Given the description of an element on the screen output the (x, y) to click on. 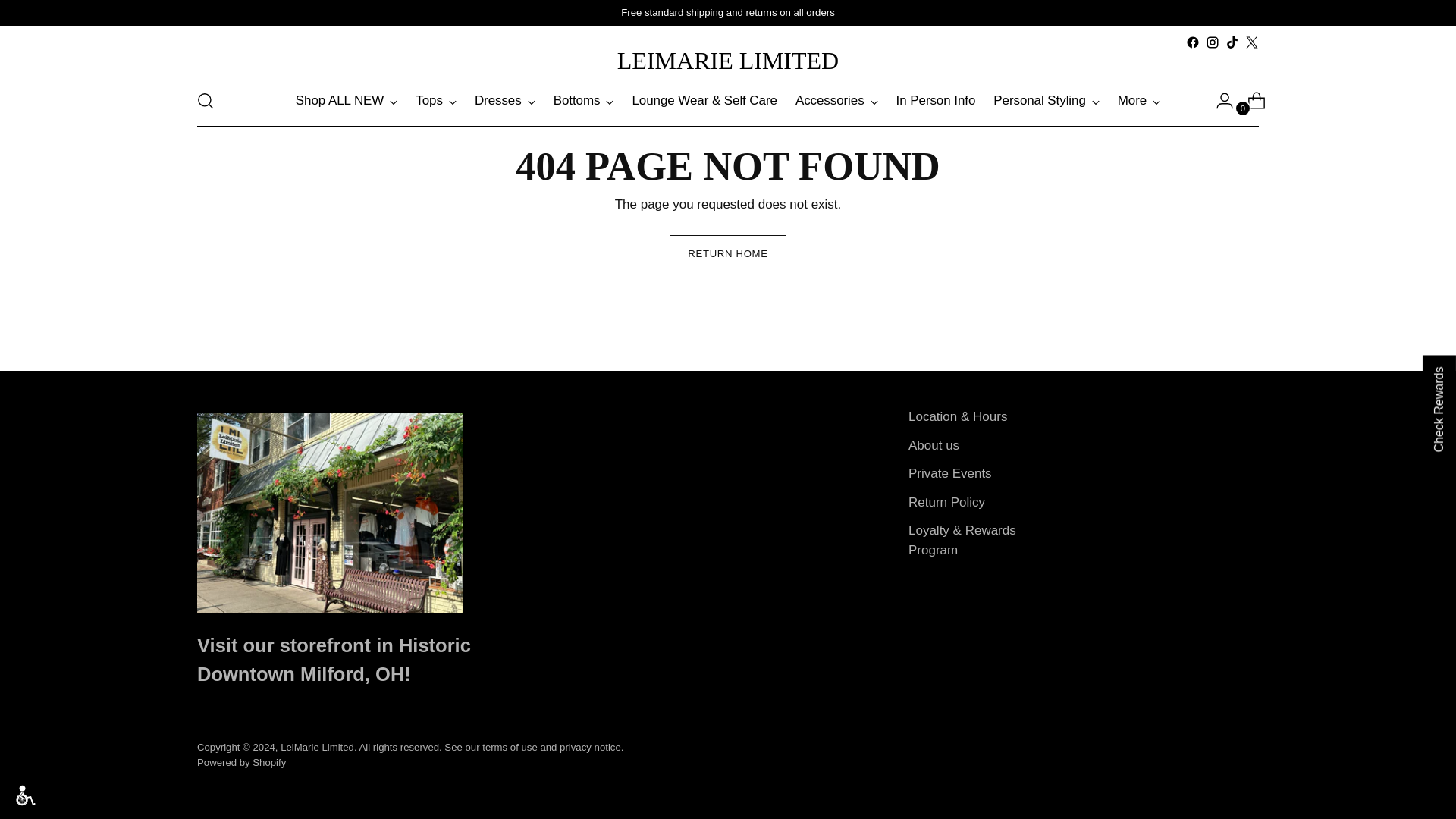
LEIMARIE LIMITED (727, 60)
Dresses (504, 100)
LeiMarie Limited on Twitter (1251, 42)
Bottoms (583, 100)
LeiMarie Limited on Facebook (1192, 42)
Tops (435, 100)
LeiMarie Limited on Instagram (1212, 42)
Shop ALL NEW (346, 100)
LeiMarie Limited on Tiktok (1232, 42)
